Given the description of an element on the screen output the (x, y) to click on. 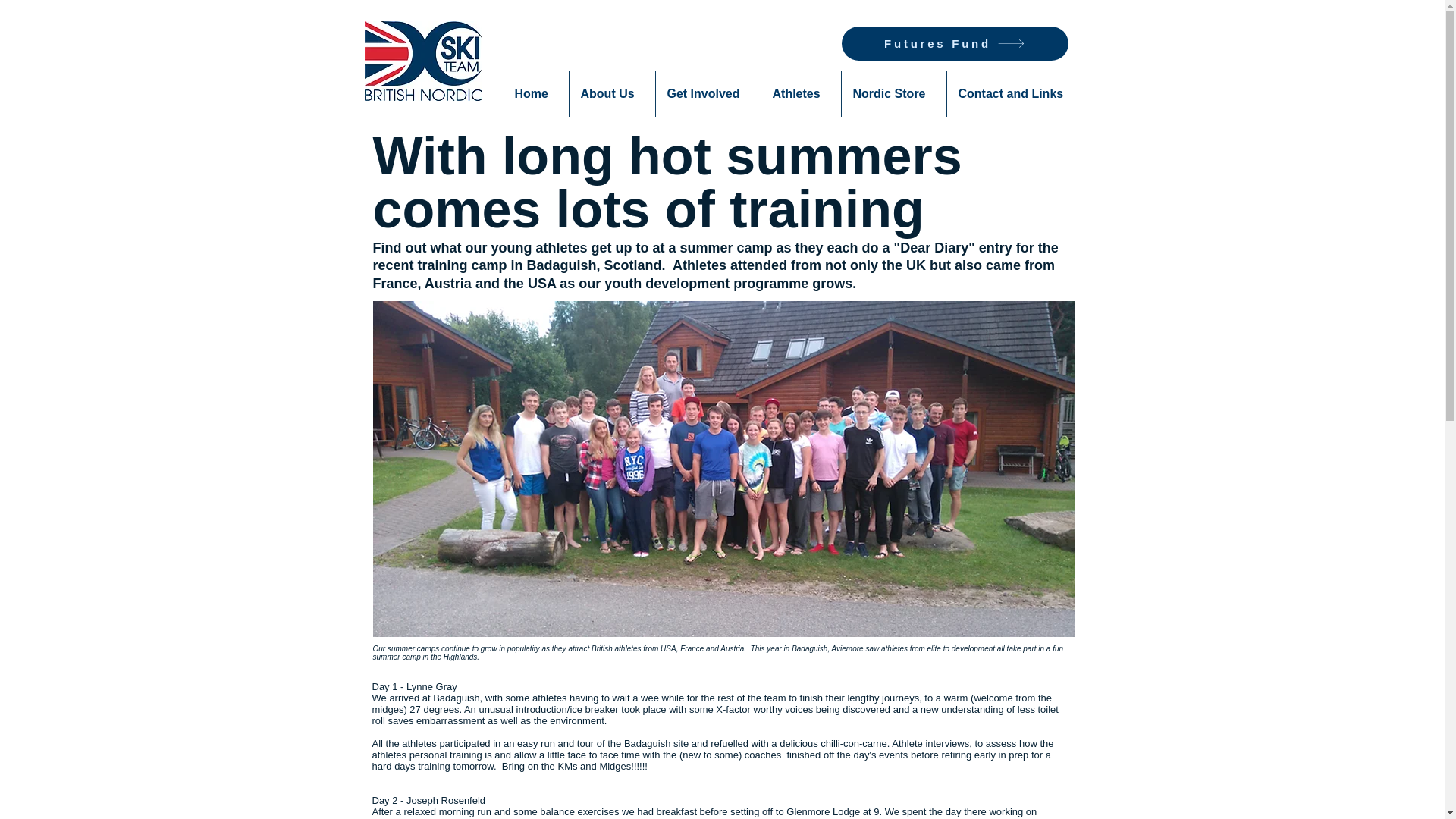
Get Involved (707, 94)
Nordic Store (893, 94)
Athletes (801, 94)
About Us (611, 94)
Contact and Links (1014, 94)
Futures Fund (954, 43)
Home (536, 94)
